Given the description of an element on the screen output the (x, y) to click on. 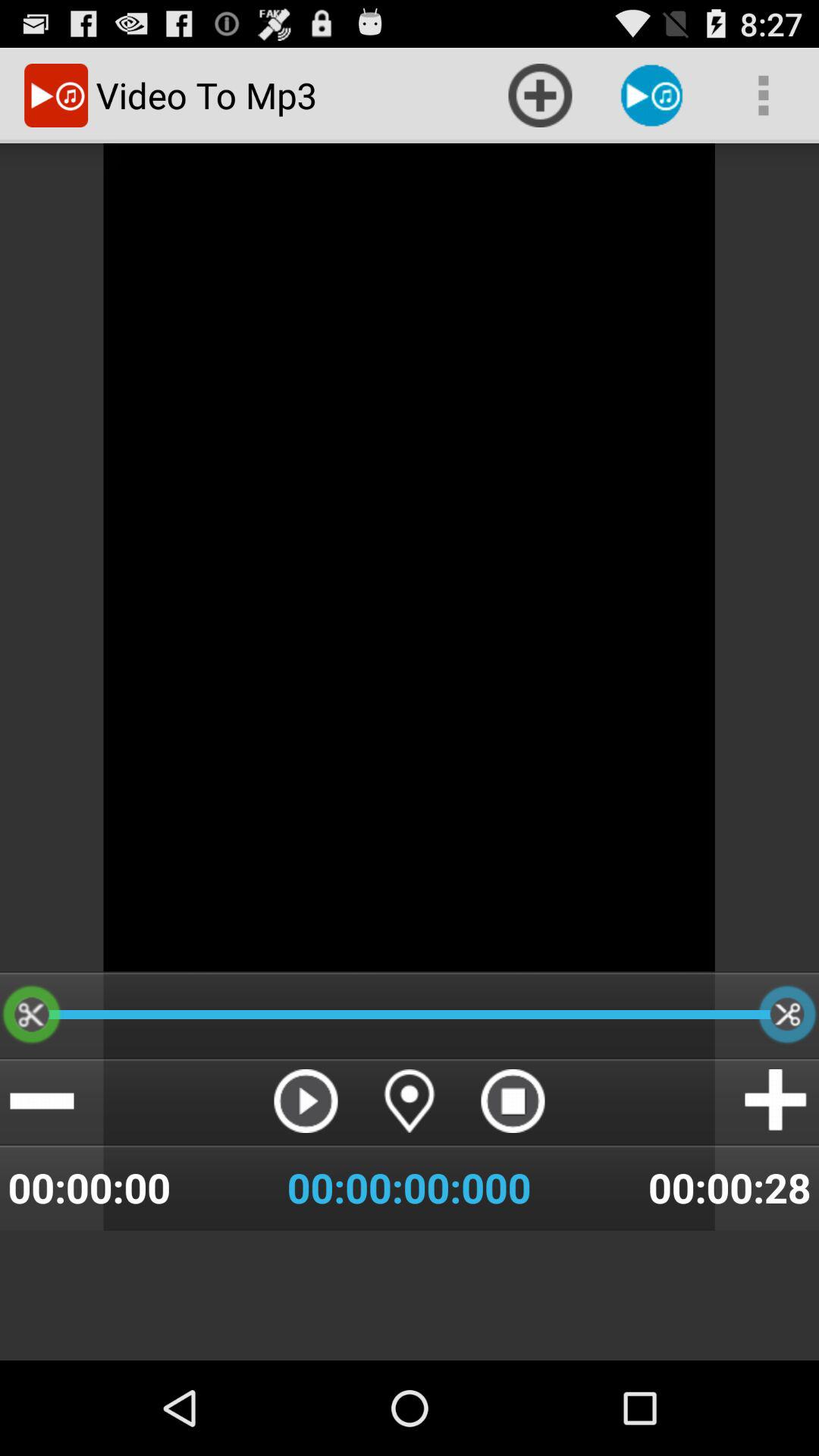
tap the item next to video to mp3 app (540, 95)
